Given the description of an element on the screen output the (x, y) to click on. 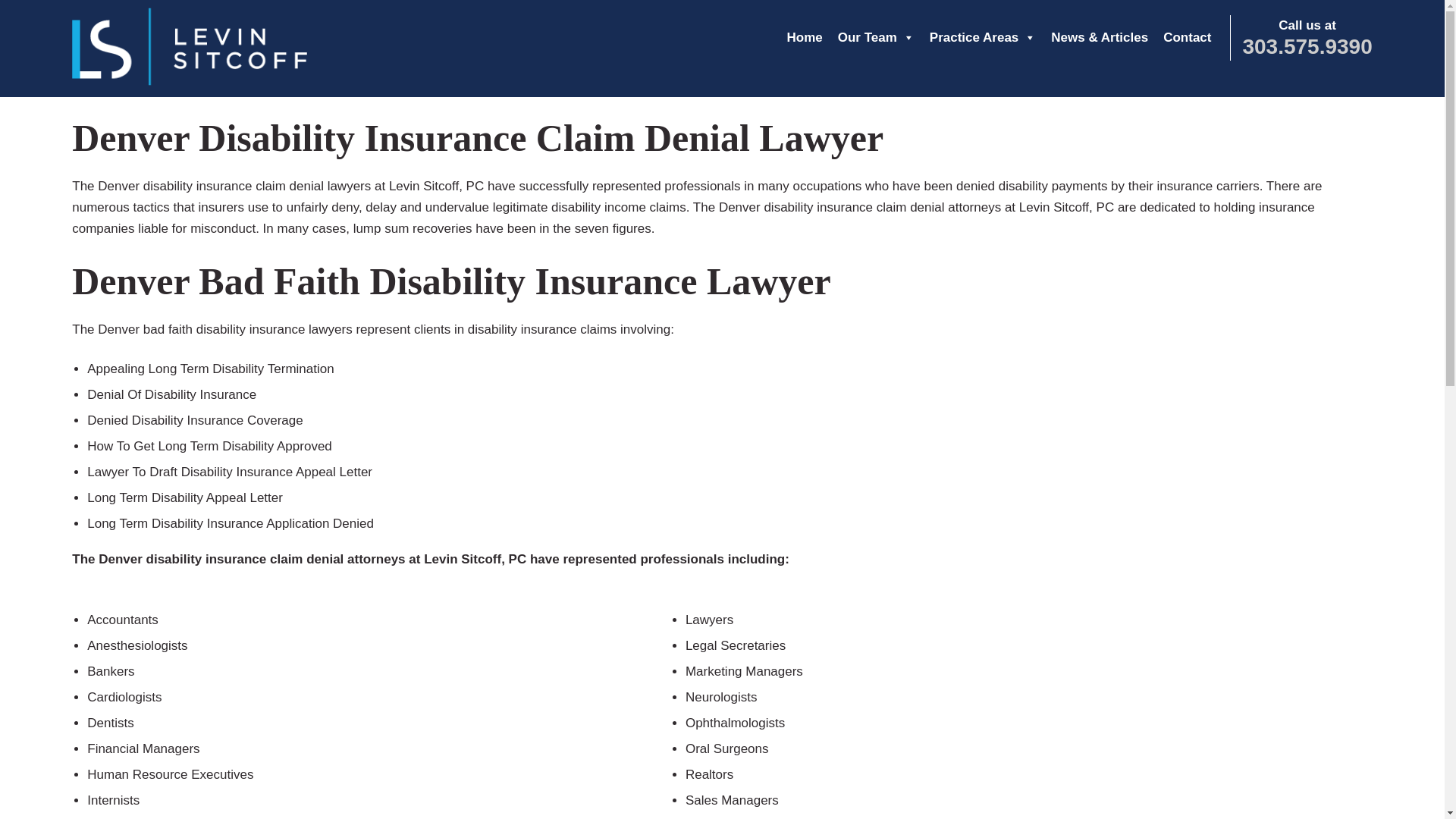
Home (803, 37)
303.575.9390 (1306, 46)
Practice Areas (982, 37)
Our Team (875, 37)
Contact (1187, 37)
Practice Areas (982, 37)
